Given the description of an element on the screen output the (x, y) to click on. 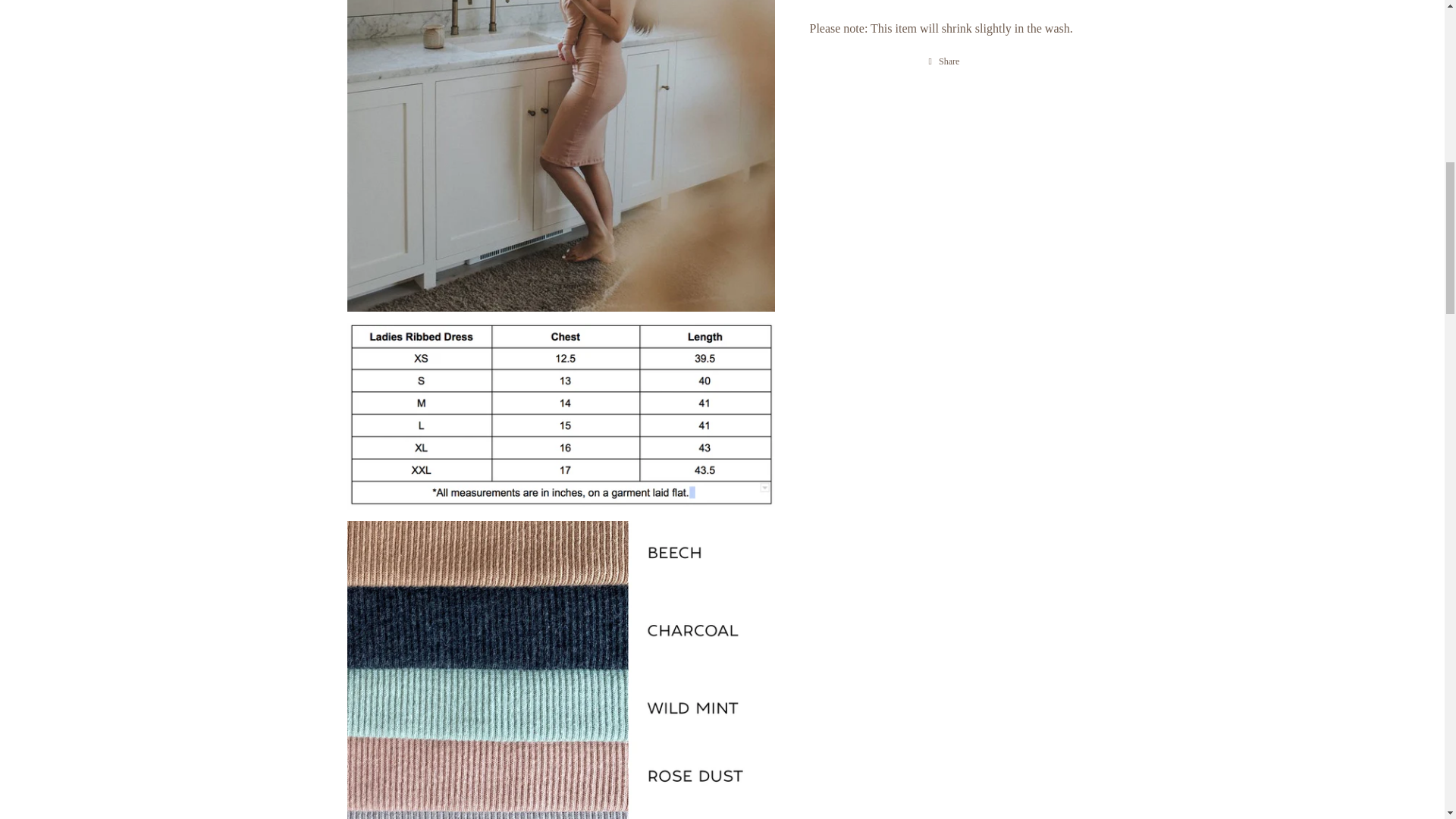
Share on Facebook (944, 61)
